Given the description of an element on the screen output the (x, y) to click on. 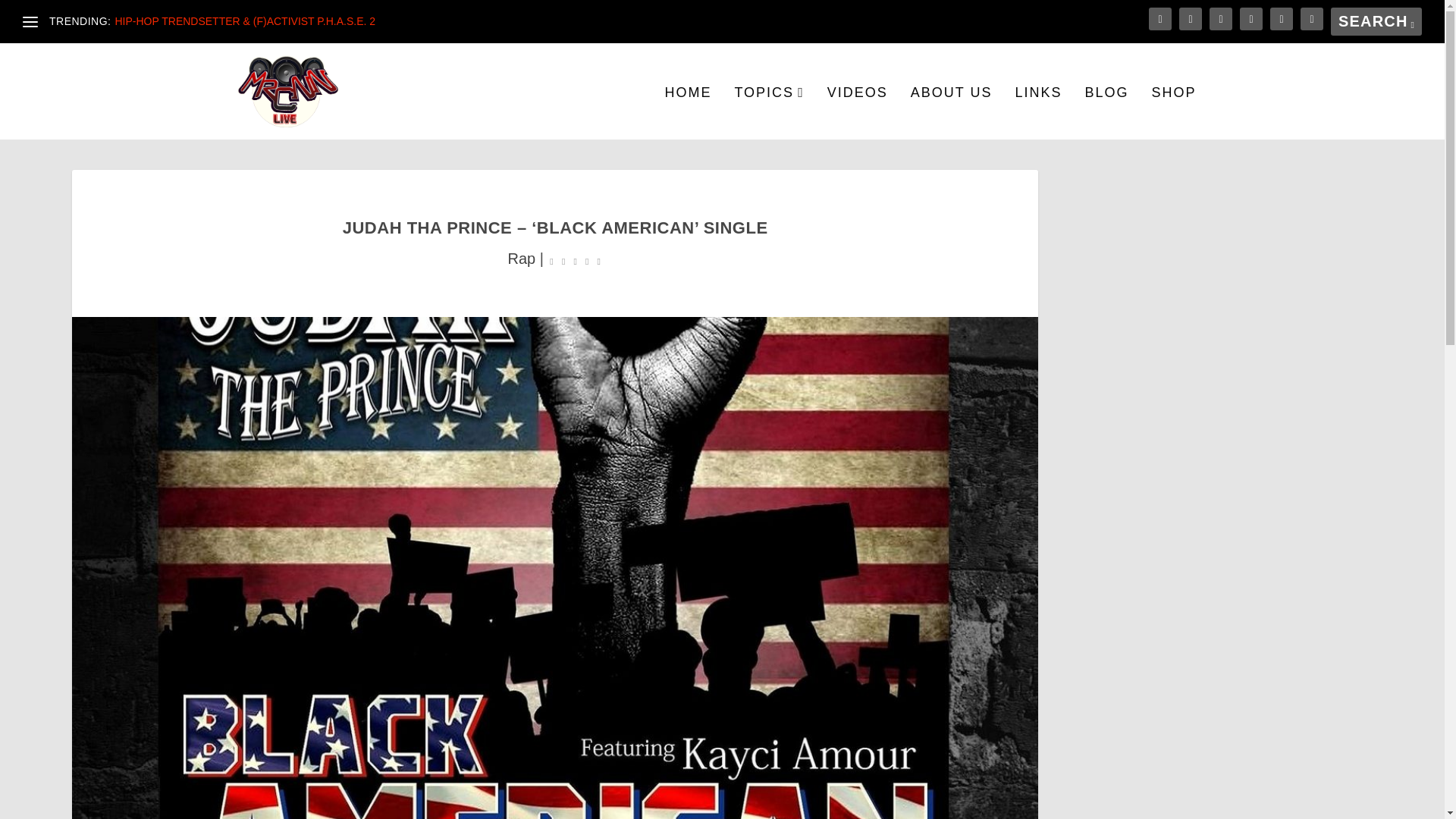
ABOUT US (951, 113)
Rating: 0.00 (575, 259)
Rap (521, 258)
Search for: (1376, 21)
VIDEOS (857, 113)
TOPICS (768, 113)
